Given the description of an element on the screen output the (x, y) to click on. 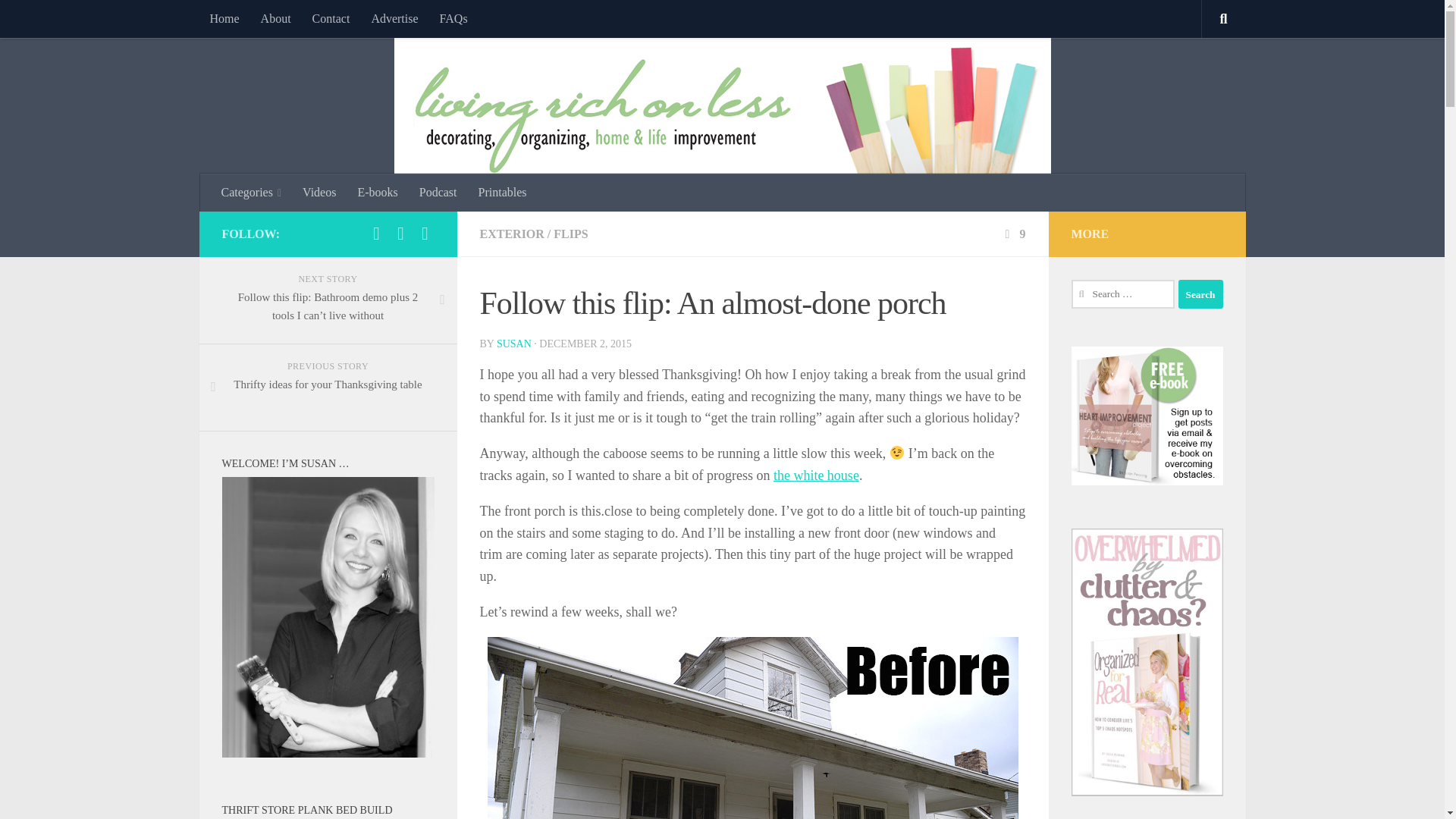
Search (1200, 294)
Follow us on Facebook (375, 233)
Follow us on Youtube (400, 233)
Skip to content (59, 20)
Search (1200, 294)
Posts by Susan (513, 343)
Follow us on Pinterest (423, 233)
